Given the description of an element on the screen output the (x, y) to click on. 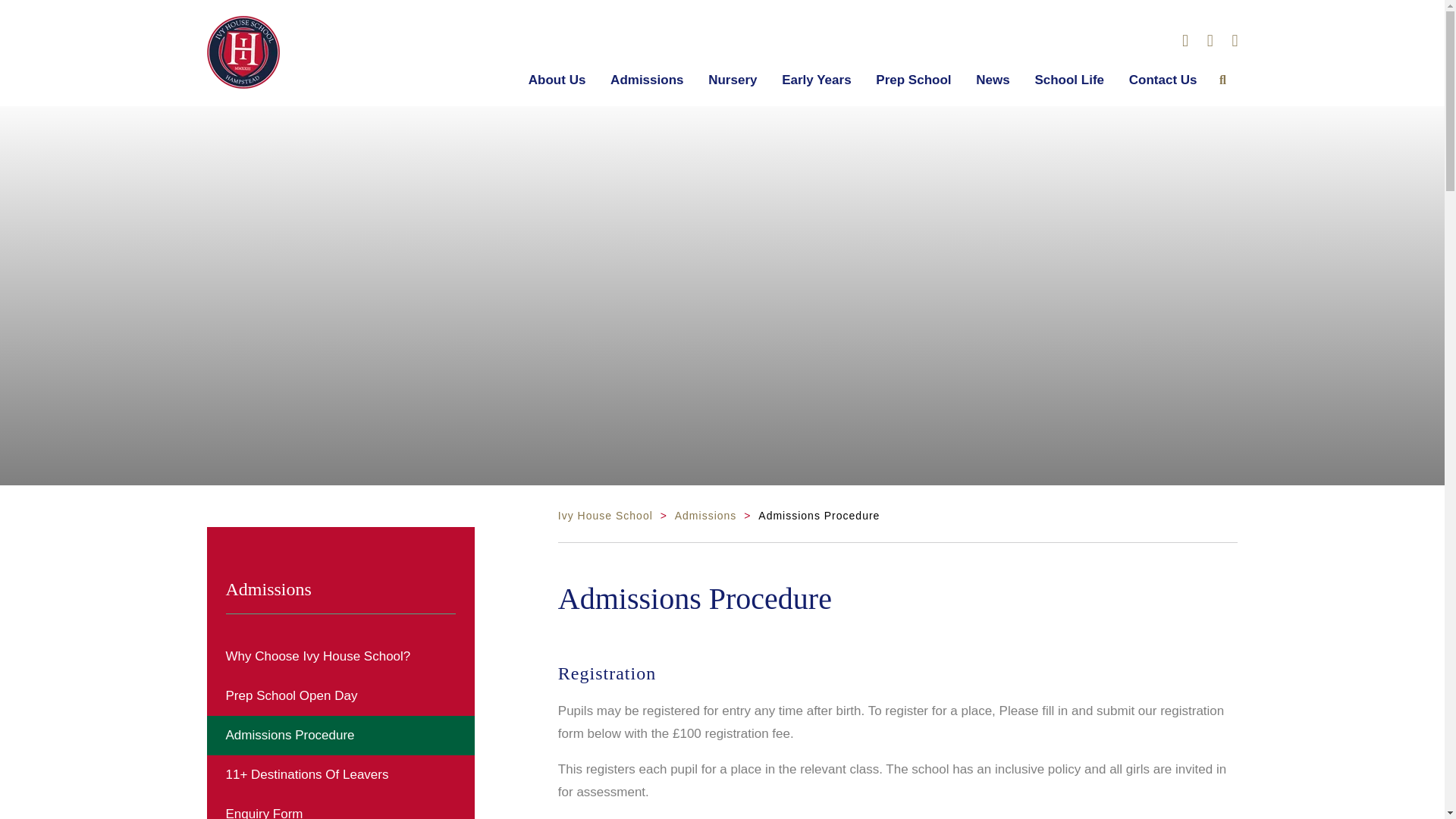
Prep School (913, 79)
About Us (557, 79)
Early Years (815, 79)
Go to Admissions. (705, 515)
Search (1222, 79)
Contact Us (1162, 79)
News (992, 79)
Nursery (732, 79)
Admissions (646, 79)
Go to Ivy House School. (604, 515)
